Given the description of an element on the screen output the (x, y) to click on. 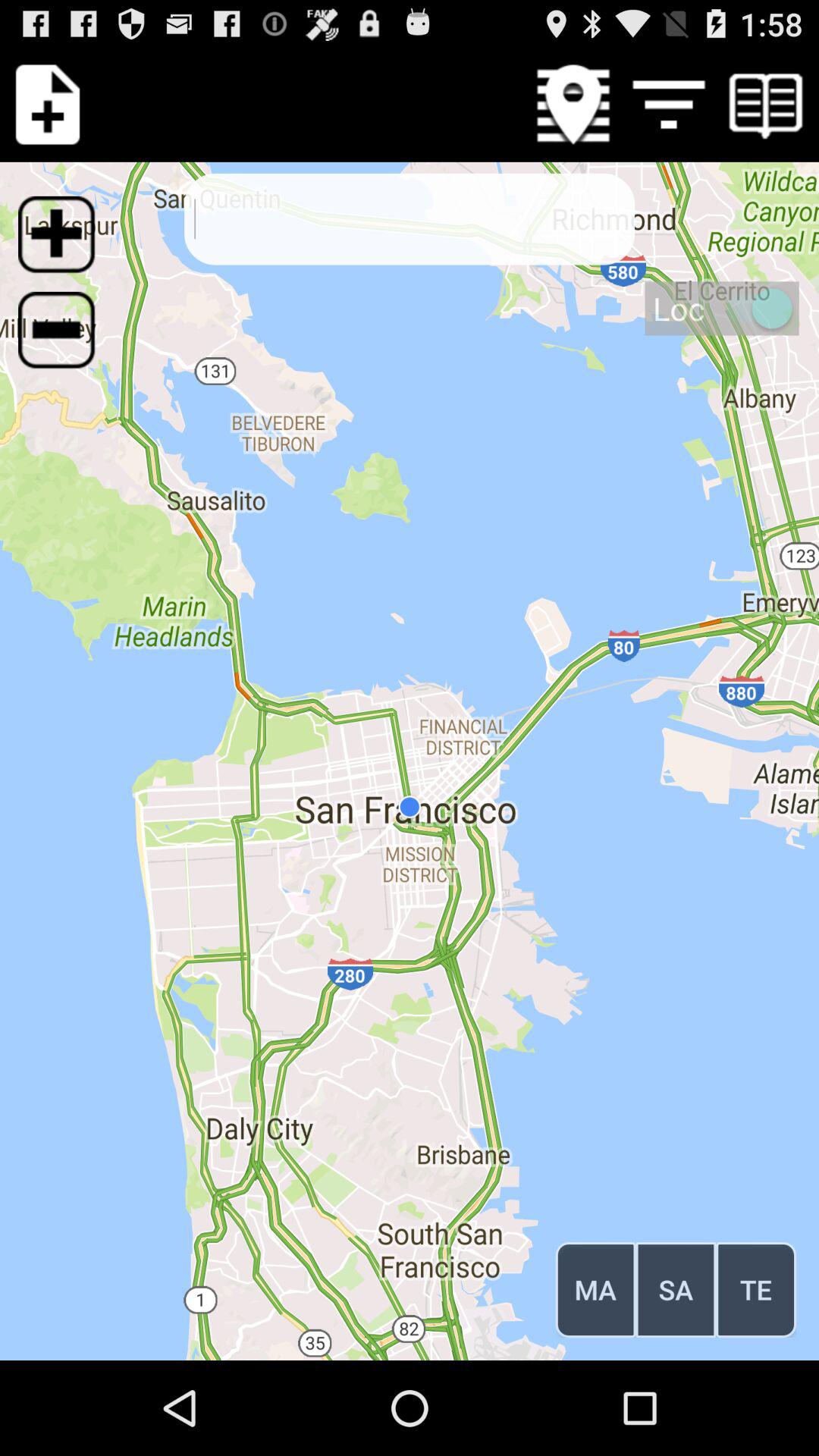
select icon above the sa (721, 308)
